Given the description of an element on the screen output the (x, y) to click on. 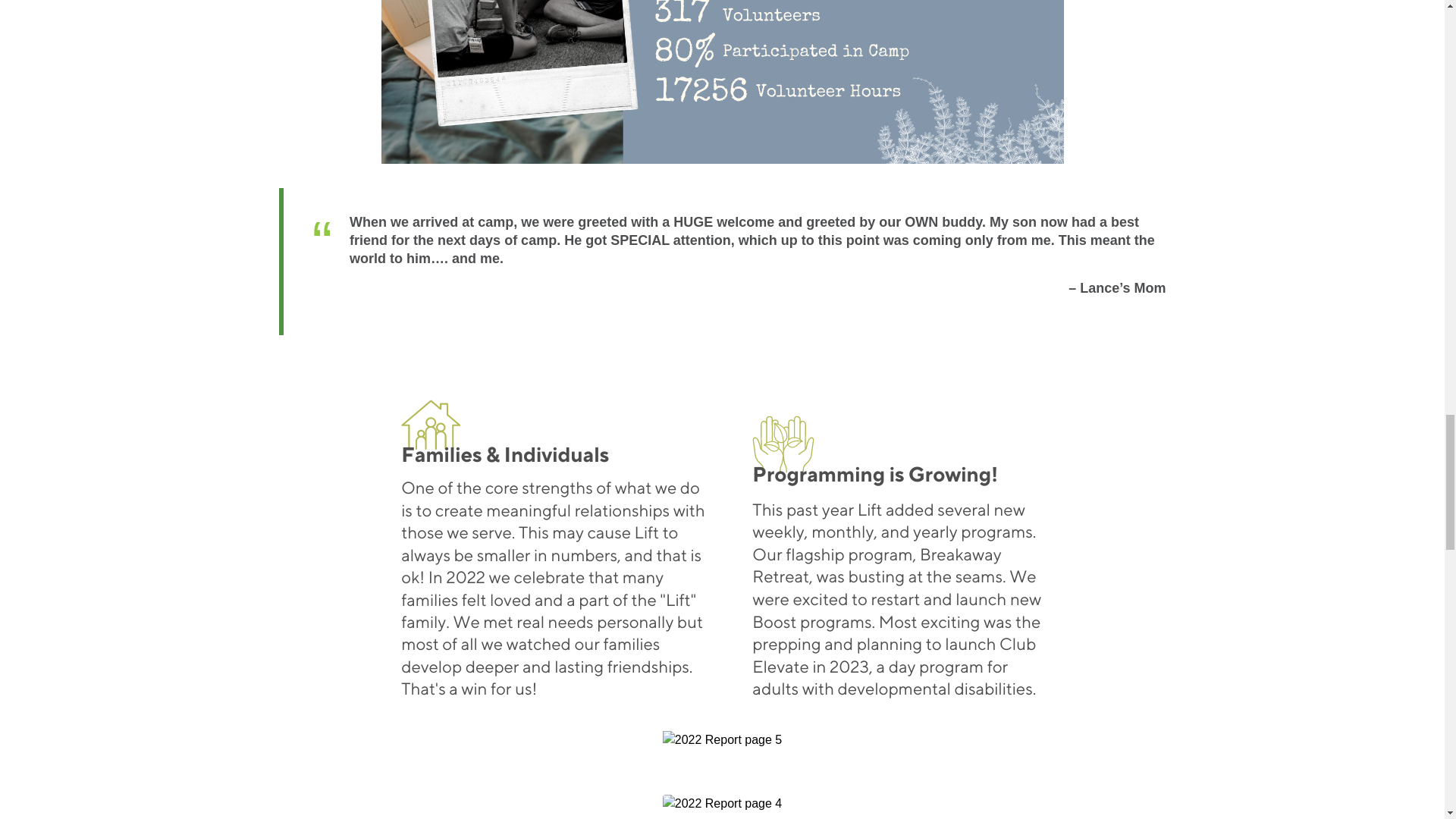
2022 Report page 5 (721, 740)
2022 Report page 4 (721, 803)
2022 Report page 2 (721, 81)
